Given the description of an element on the screen output the (x, y) to click on. 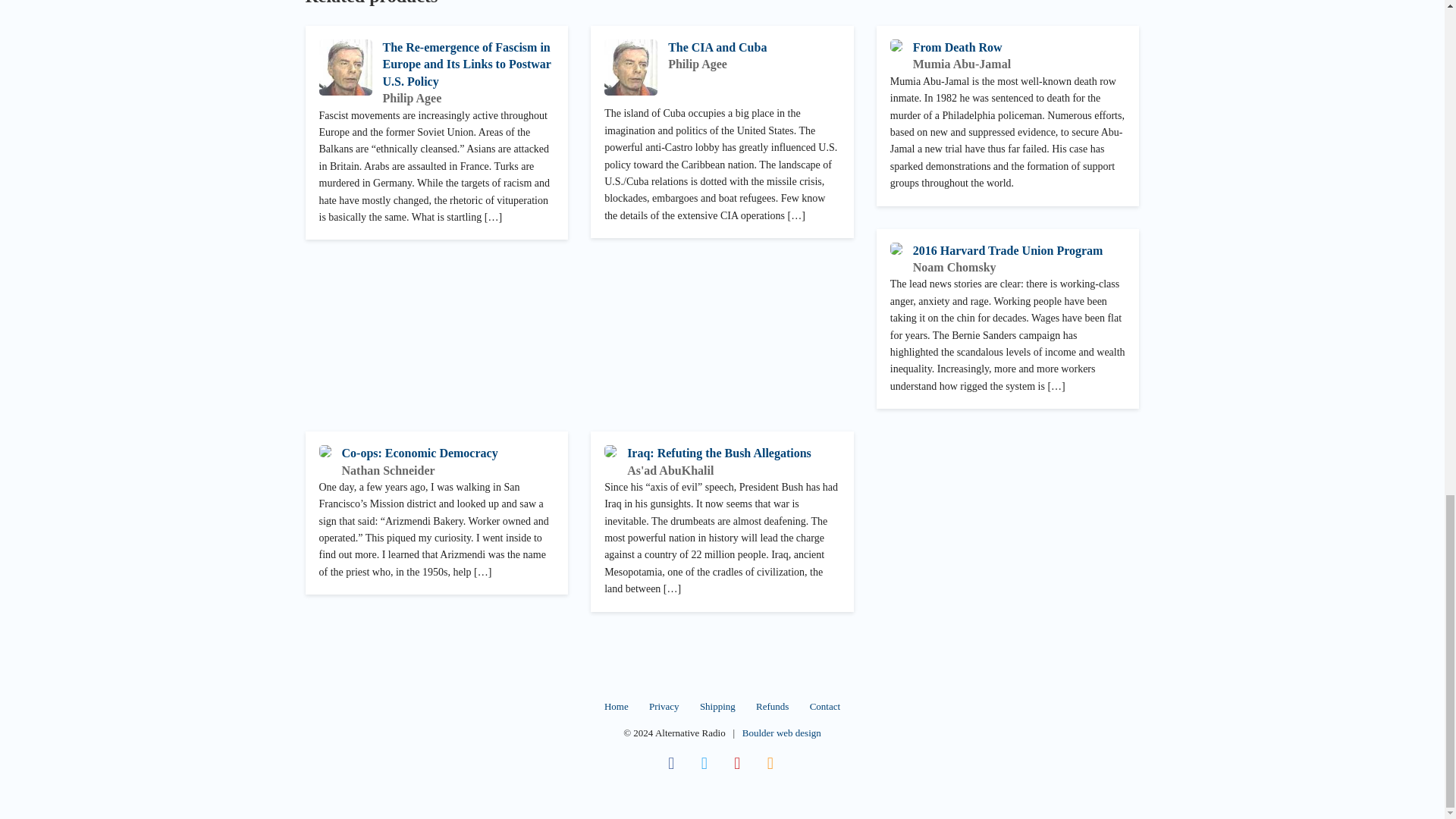
Podcast (769, 763)
YouTube (737, 763)
Facebook (670, 763)
Twitter (704, 763)
